Given the description of an element on the screen output the (x, y) to click on. 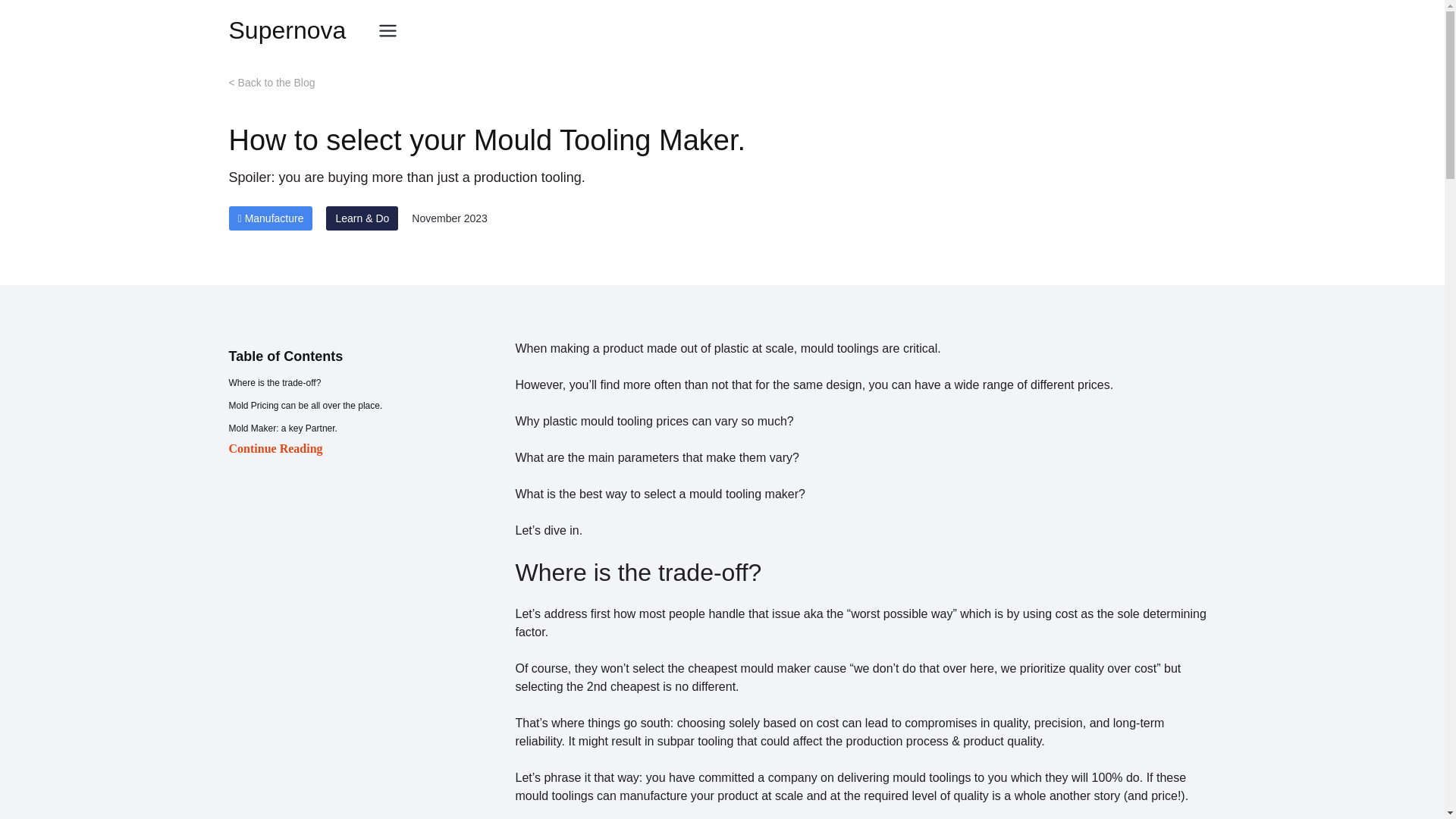
Mold Pricing can be all over the place. (365, 404)
Where is the trade-off? (365, 382)
Supernova (287, 30)
Mold Maker: a key Partner. (365, 427)
Continue Reading (365, 448)
